Given the description of an element on the screen output the (x, y) to click on. 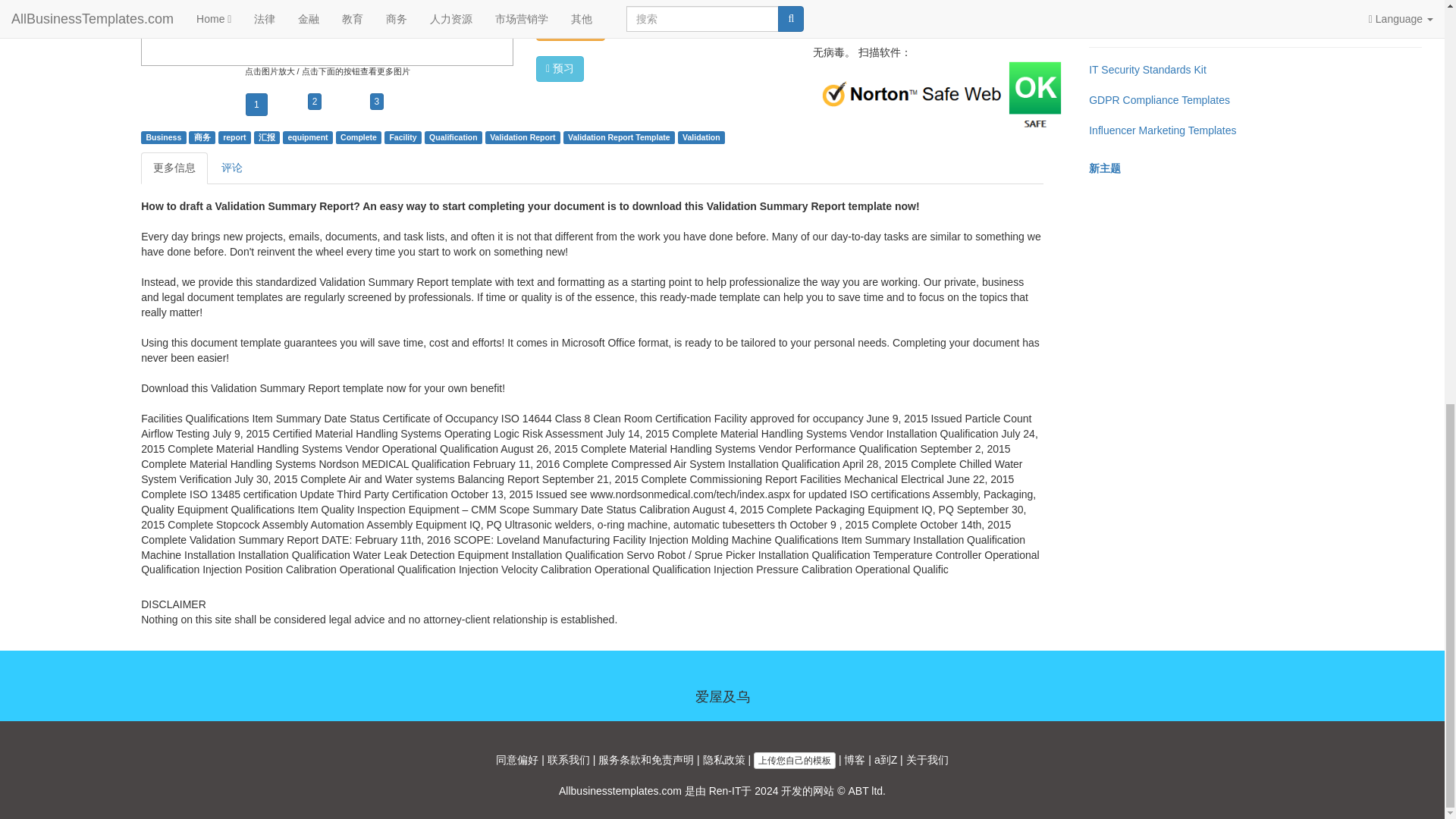
Qualification (453, 136)
3 (376, 101)
Facility (402, 136)
Business (164, 136)
equipment (308, 136)
Validation (701, 136)
Complete (358, 136)
report (234, 136)
2 (314, 101)
1 (256, 104)
Validation Report Template (618, 136)
Validation Report (521, 136)
